Given the description of an element on the screen output the (x, y) to click on. 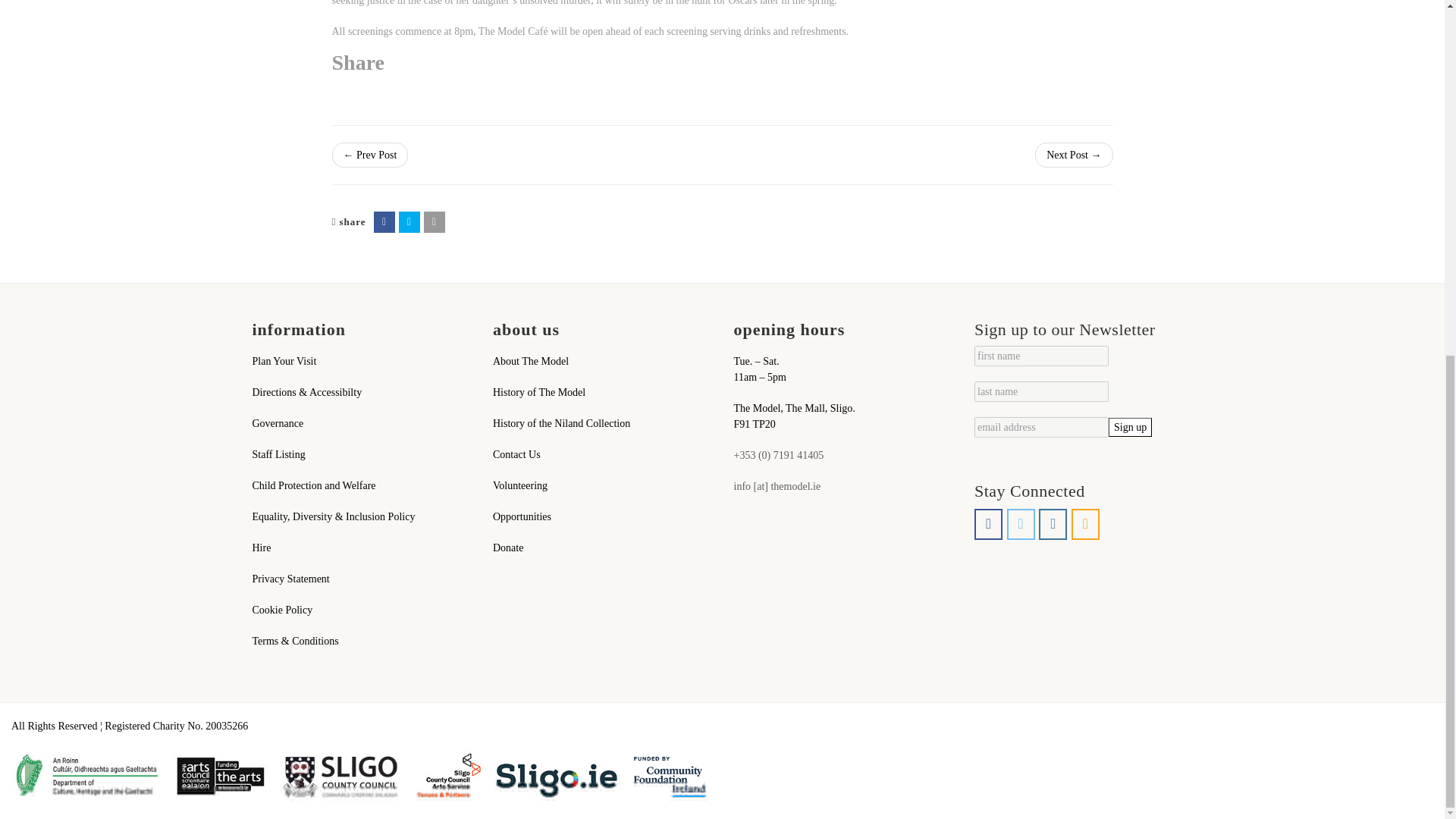
Email (434, 221)
Sign up (1129, 426)
Tweet (409, 221)
The Model, Sligo. on Instagram (1053, 523)
The Model, Sligo. on Facebook (988, 523)
The Model, Sligo. on Rss (1085, 523)
Share on Facebook (384, 221)
The Model, Sligo. on X Twitter (1021, 523)
